Given the description of an element on the screen output the (x, y) to click on. 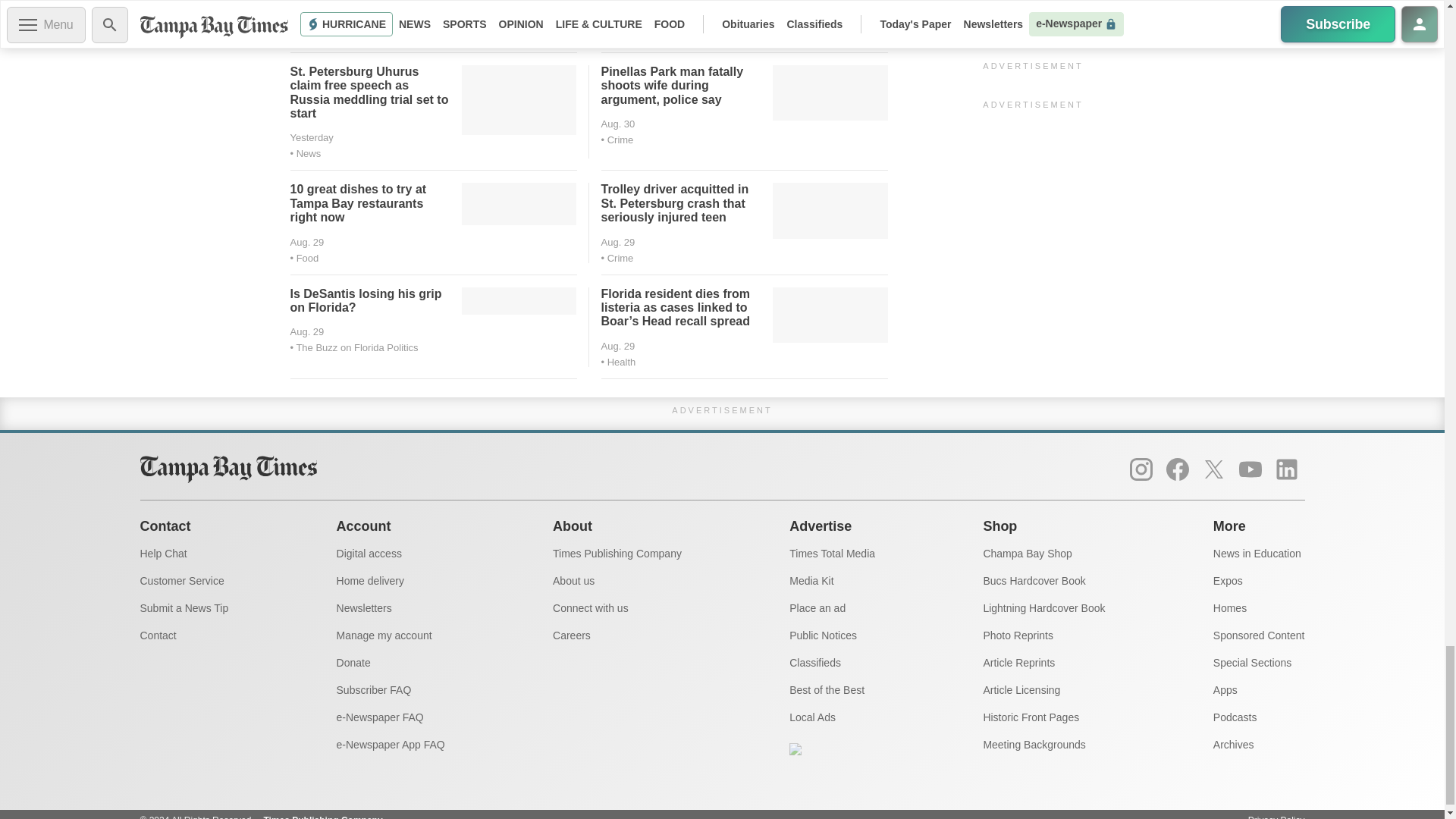
2024-08-30T20:25:50.731Z (311, 5)
2024-08-29T19:46:06.935Z (616, 123)
2024-08-30T09:30:00Z (311, 137)
2024-08-29T14:43:39.951Z (306, 242)
2024-08-29T10:00:00Z (616, 242)
2024-08-30T20:02:55.351Z (621, 20)
